Given the description of an element on the screen output the (x, y) to click on. 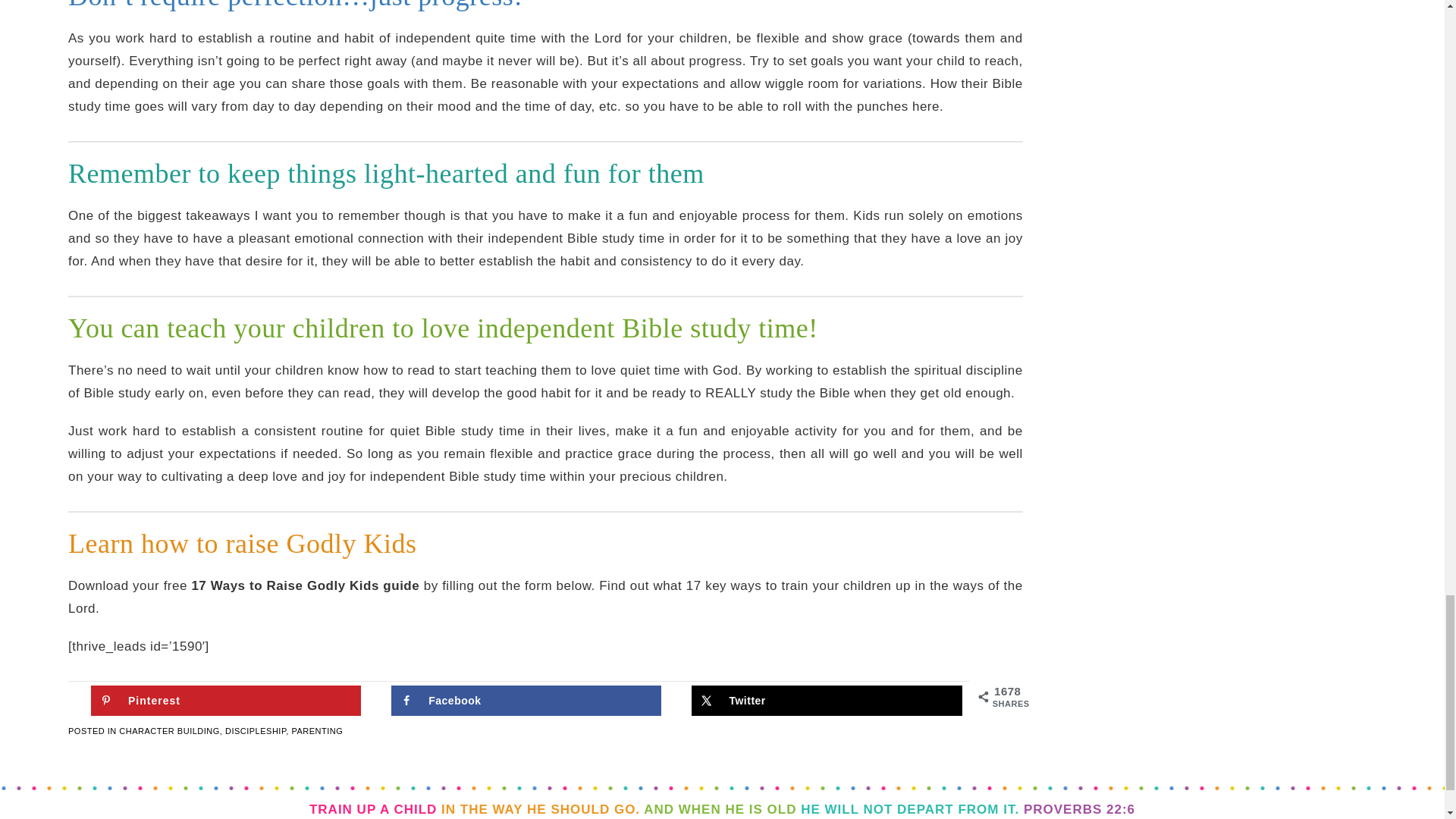
Share on Facebook (526, 700)
Save to Pinterest (225, 700)
Share on X (825, 700)
